Given the description of an element on the screen output the (x, y) to click on. 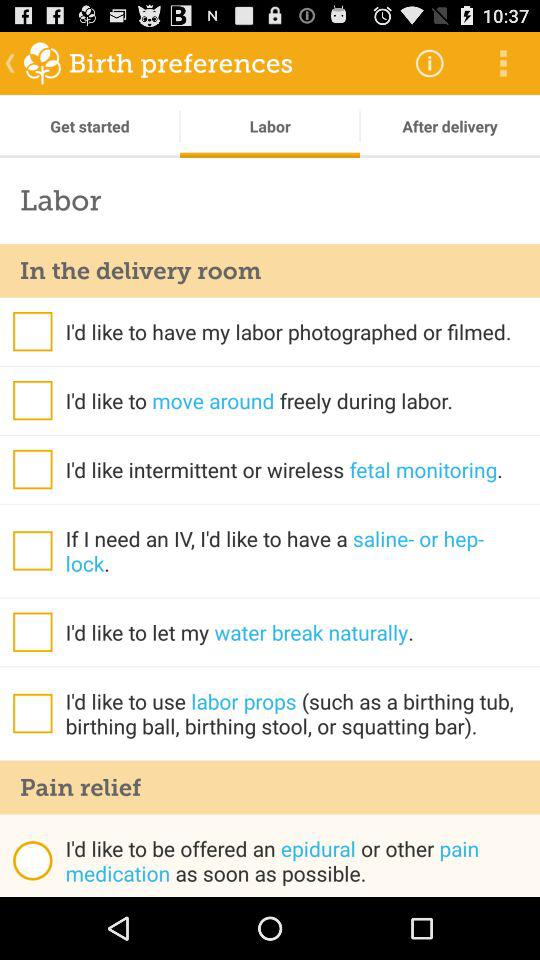
select the icon above labor (450, 125)
